Given the description of an element on the screen output the (x, y) to click on. 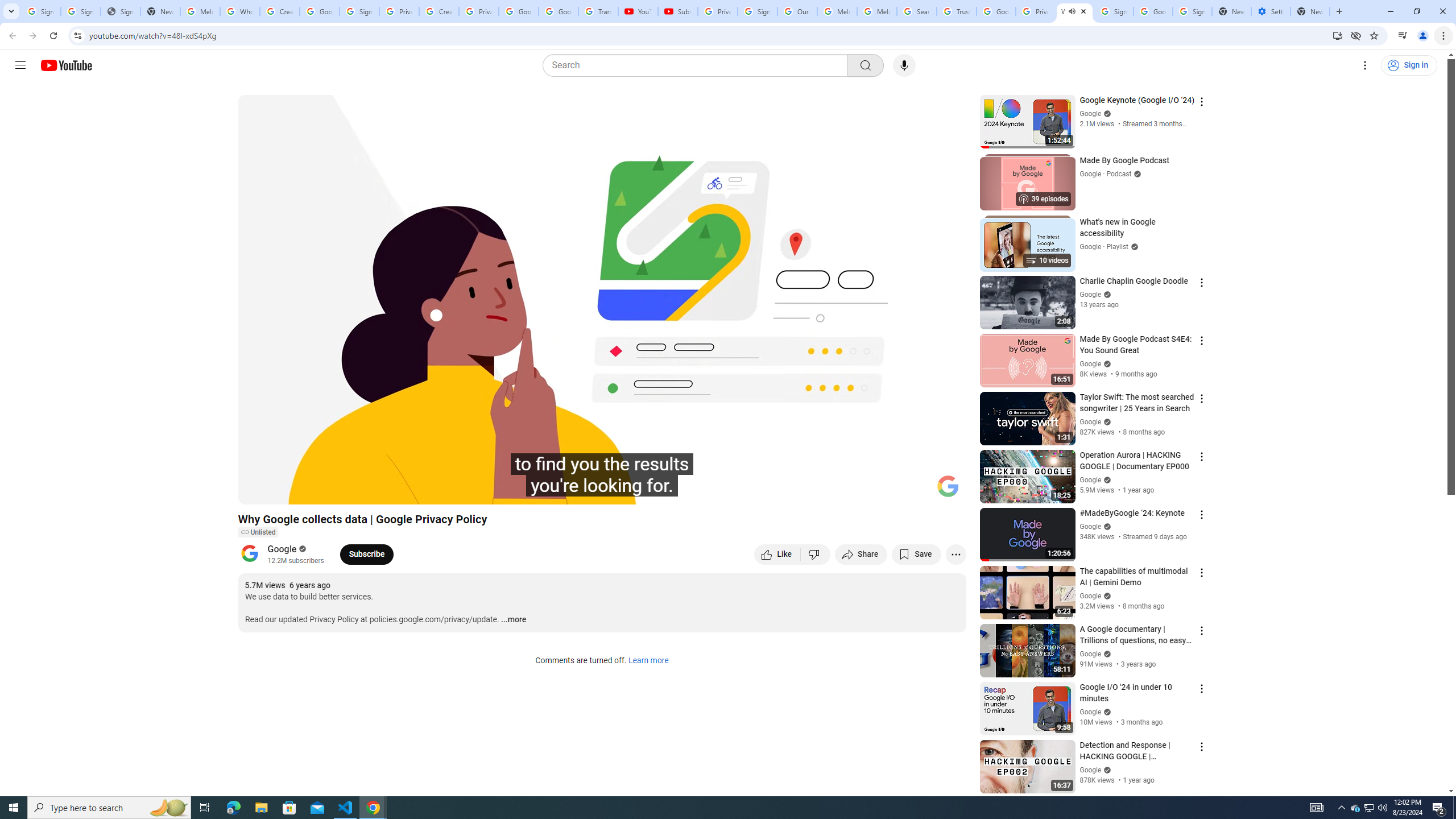
Full screen (f) (945, 490)
Sign in - Google Accounts (757, 11)
Sign in - Google Accounts (1113, 11)
